Given the description of an element on the screen output the (x, y) to click on. 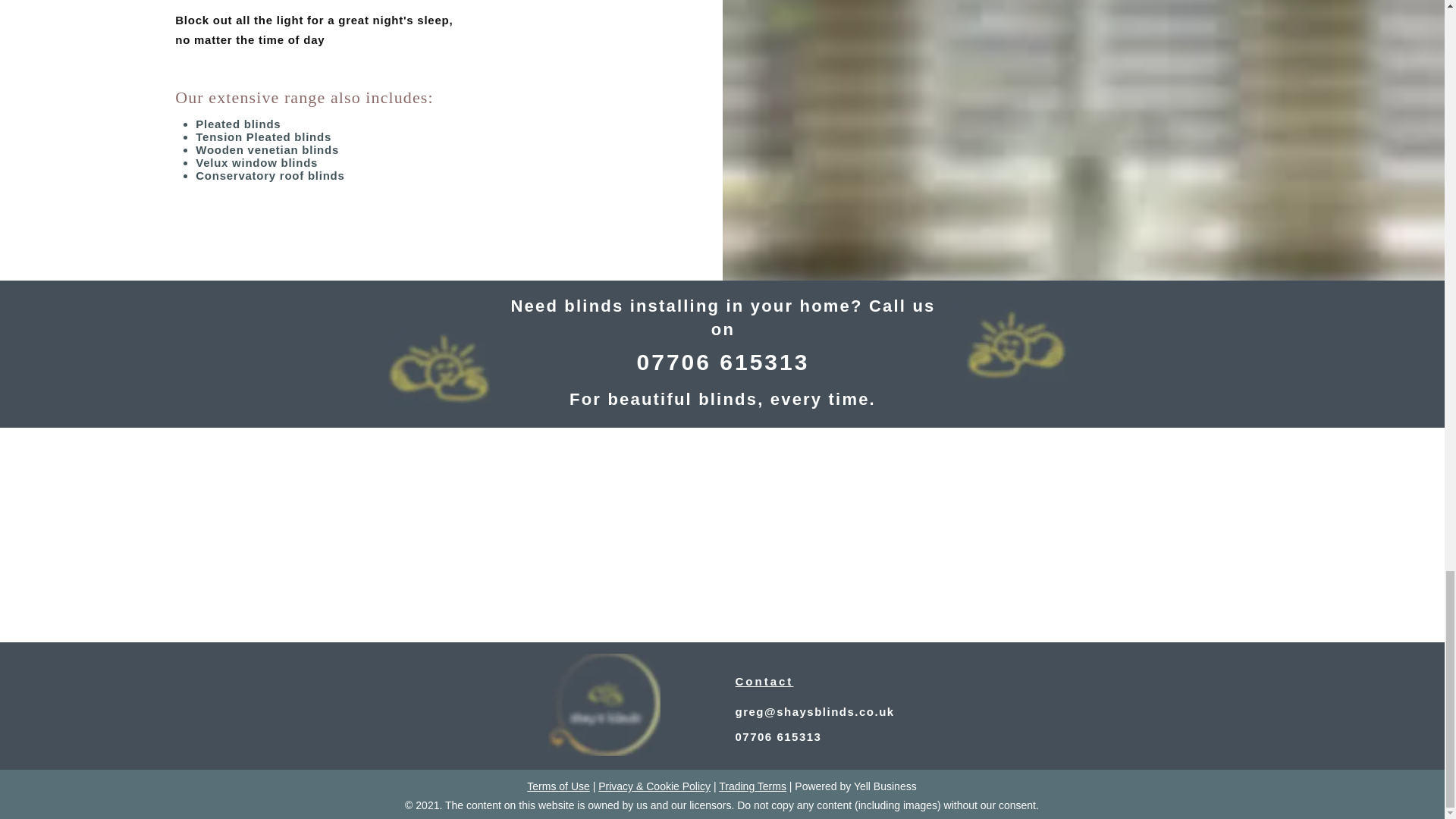
Terms of Use (558, 786)
Trading Terms (752, 786)
07706 615313 (778, 736)
07706 615313 (723, 361)
